Given the description of an element on the screen output the (x, y) to click on. 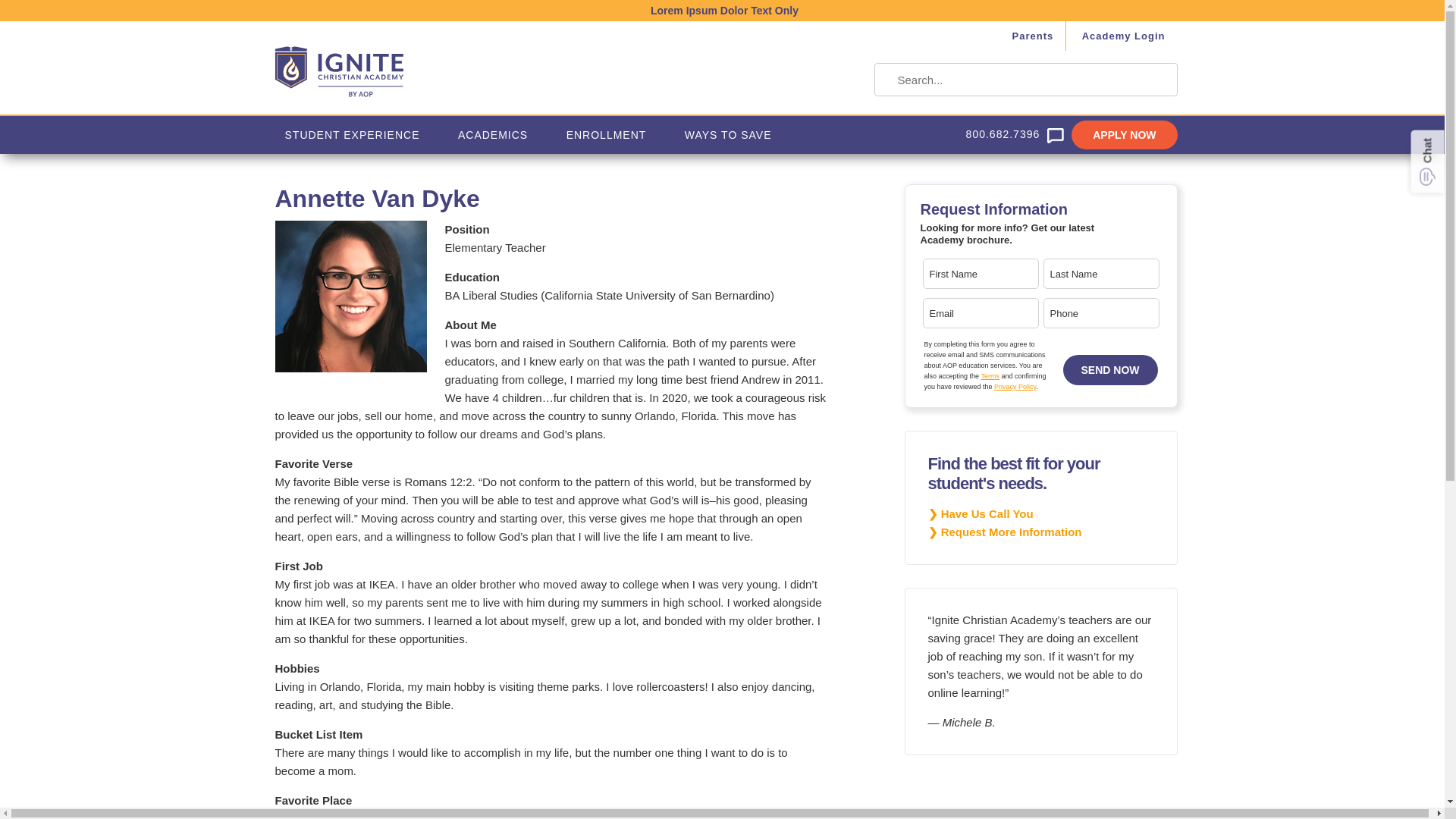
SEND NOW (1109, 369)
WAYS TO SAVE (727, 133)
Annette Van Dyke (350, 296)
Terms (988, 376)
Ignite Christian Academy (448, 67)
800.682.7396 (995, 132)
Request More Information (1004, 531)
STUDENT EXPERIENCE (351, 133)
